Given the description of an element on the screen output the (x, y) to click on. 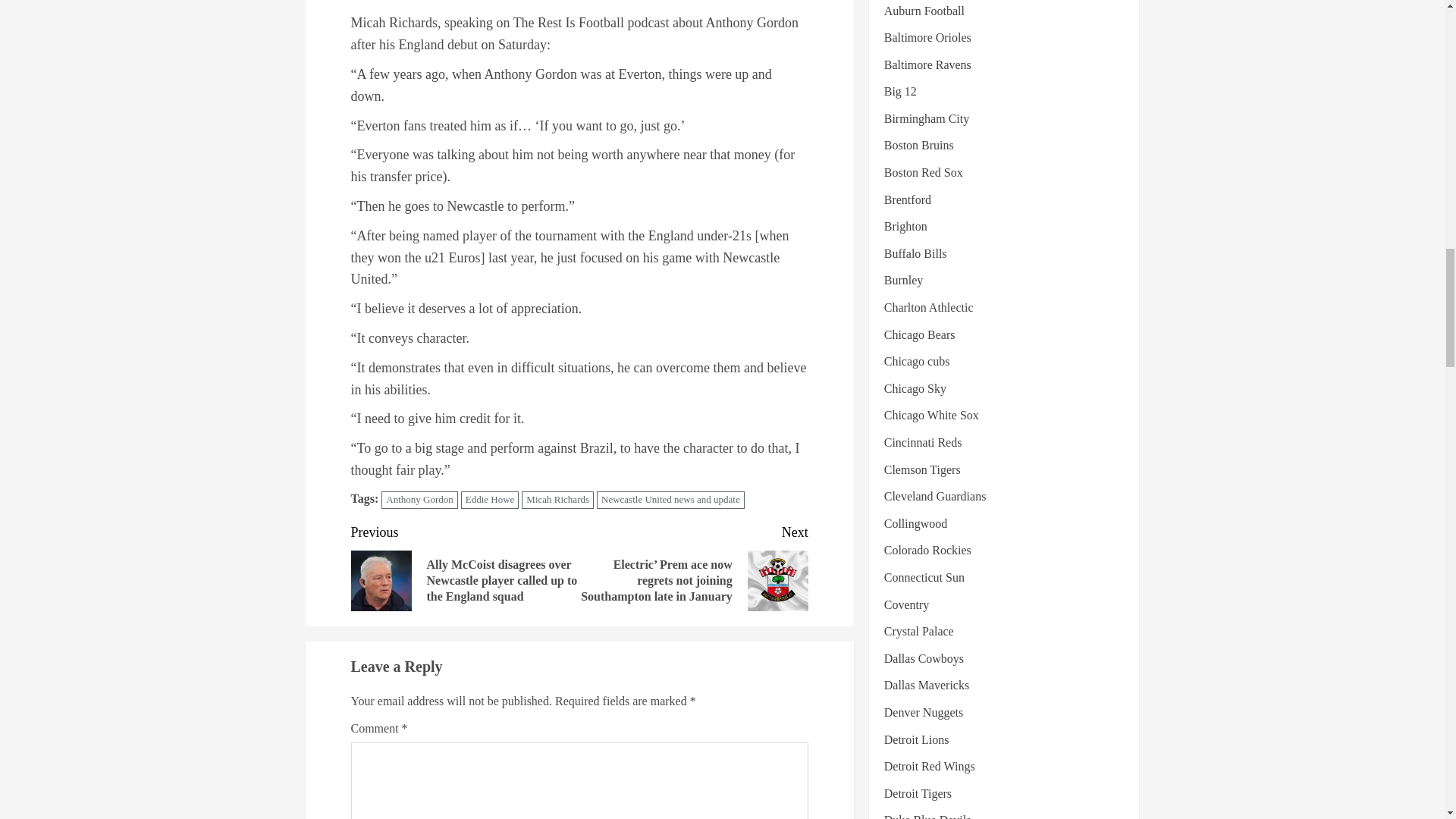
Newcastle United news and update (670, 499)
Eddie Howe (490, 499)
Anthony Gordon (419, 499)
Micah Richards (557, 499)
